Given the description of an element on the screen output the (x, y) to click on. 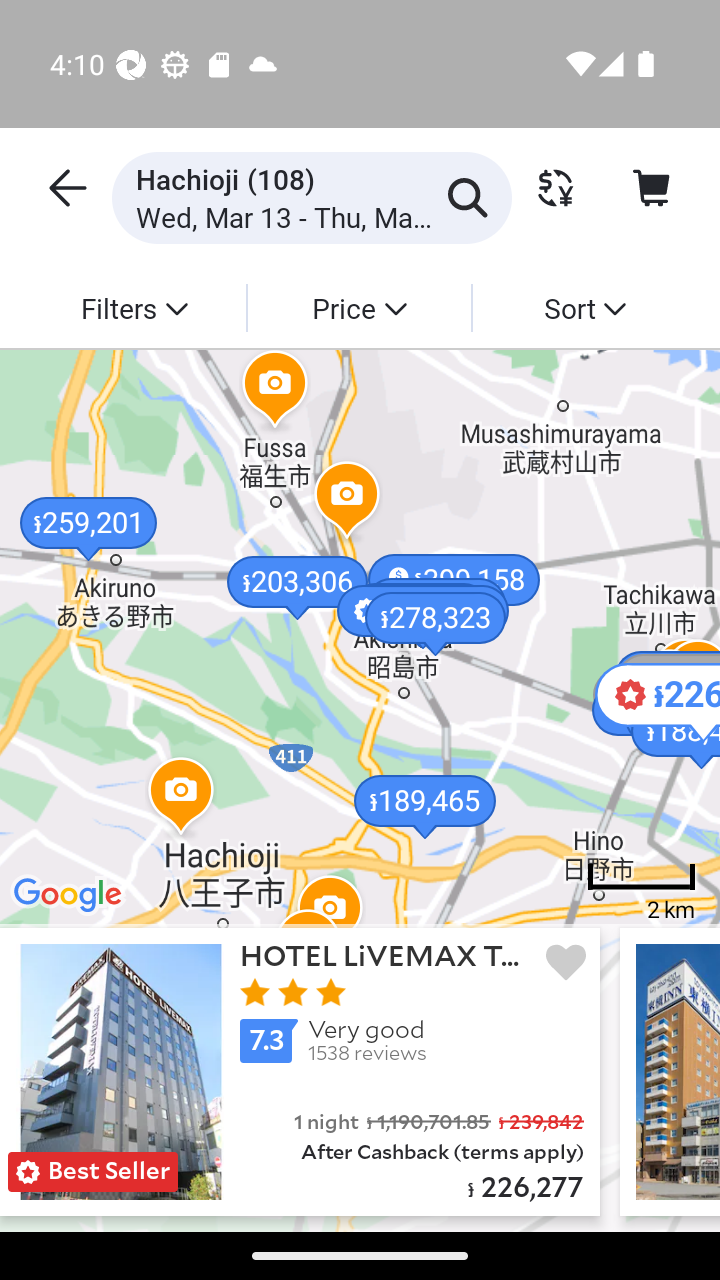
Filters (134, 307)
Price (358, 307)
Sort (584, 307)
